Given the description of an element on the screen output the (x, y) to click on. 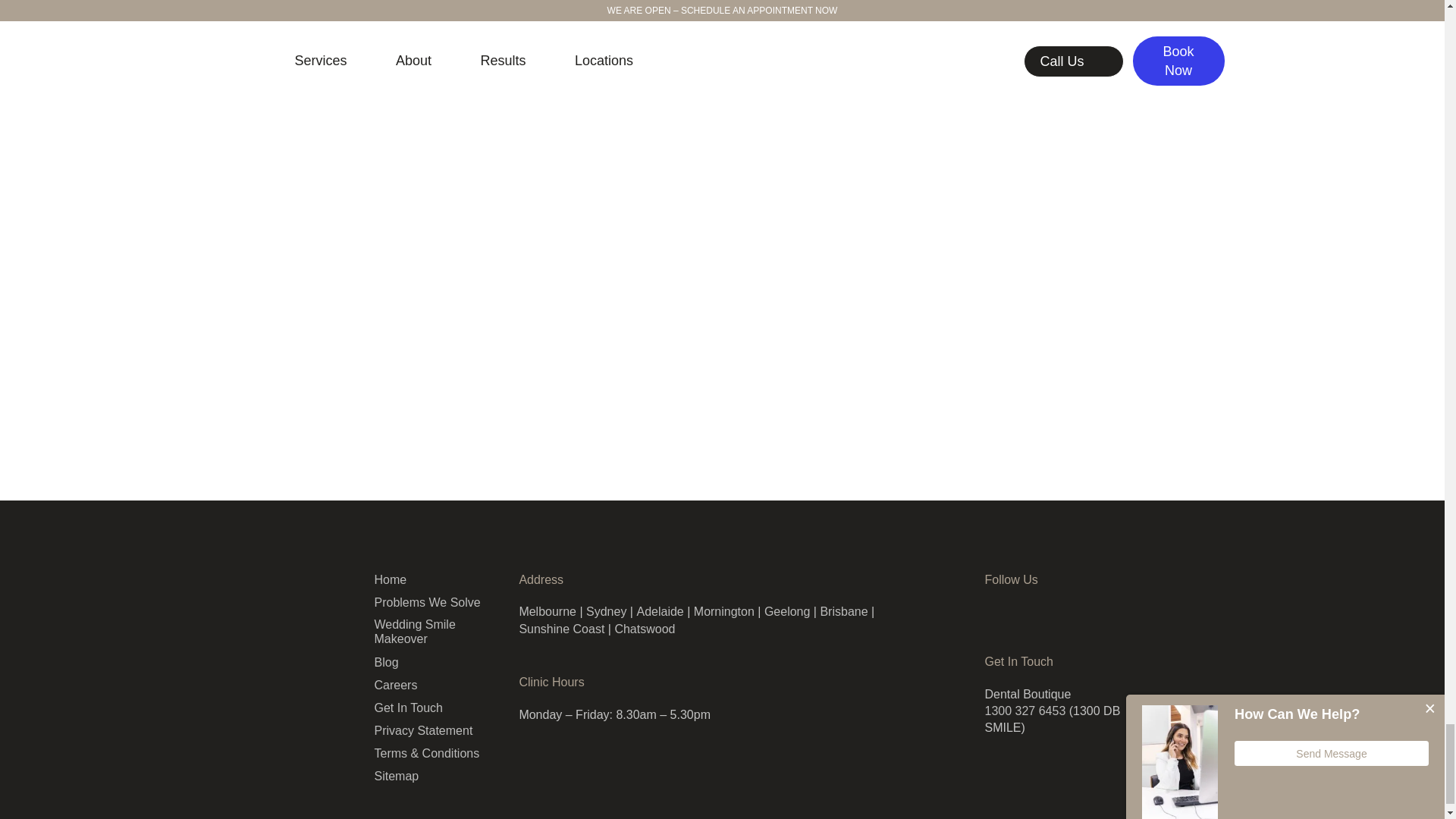
Dental Boutique on Youtube (1036, 610)
Dental Boutique on Instagram (990, 610)
Dental Boutique on Tiktok (1058, 610)
Dental Boutique on Facebook (1013, 610)
